Given the description of an element on the screen output the (x, y) to click on. 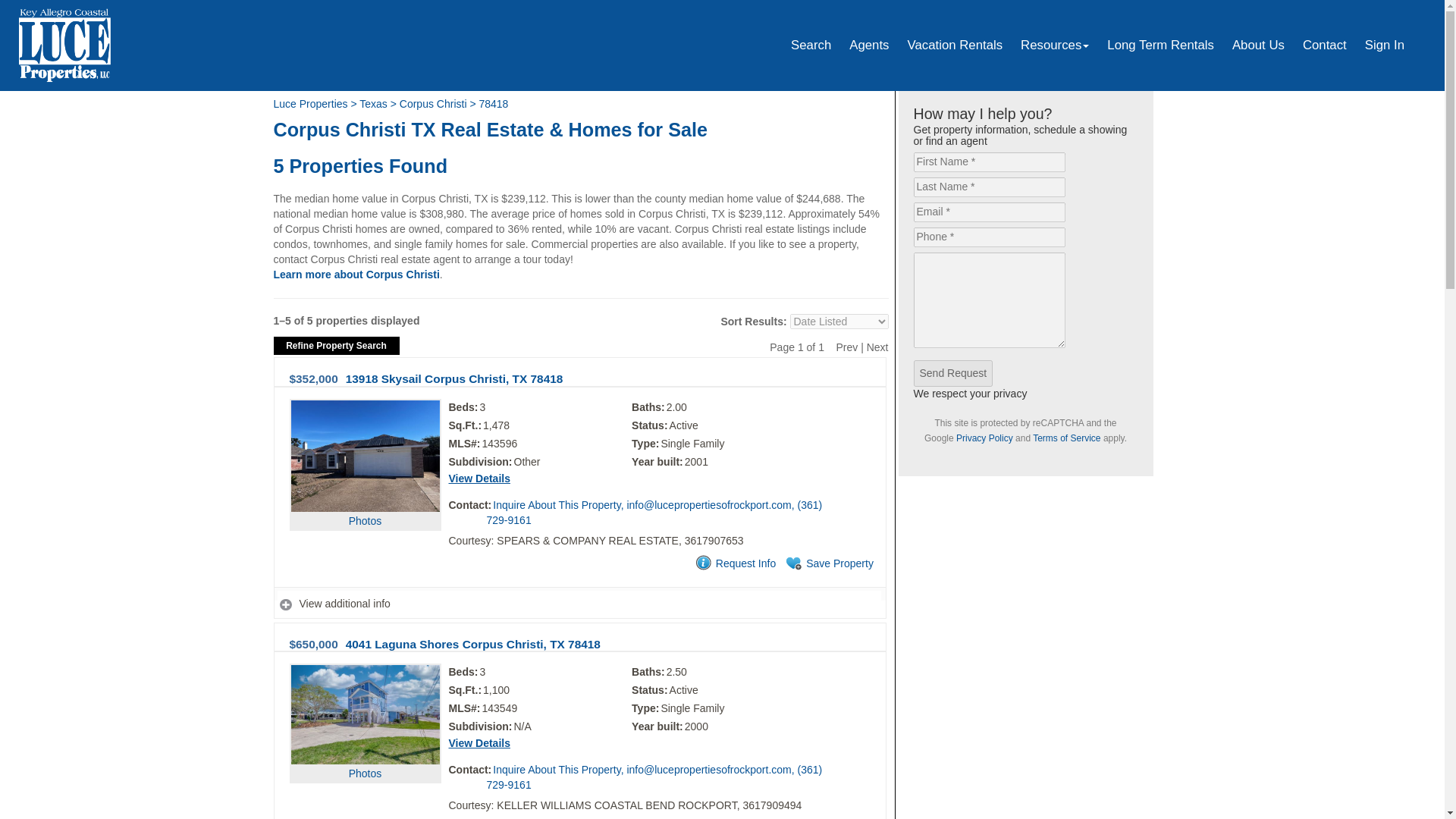
Photos (365, 488)
Sign In (1384, 45)
View Details (479, 743)
Request Info (734, 563)
13918 Skysail Corpus Christi, TX 78418 (454, 378)
View property remarks and map (580, 603)
View Details (479, 478)
Resources (1054, 45)
Refine Property Search (335, 345)
4041 Laguna Shores Corpus Christi, TX 78418 (472, 643)
Vacation Rentals (954, 45)
Search (810, 45)
Photos (365, 744)
Luce Properties (310, 103)
Save Property (828, 563)
